Given the description of an element on the screen output the (x, y) to click on. 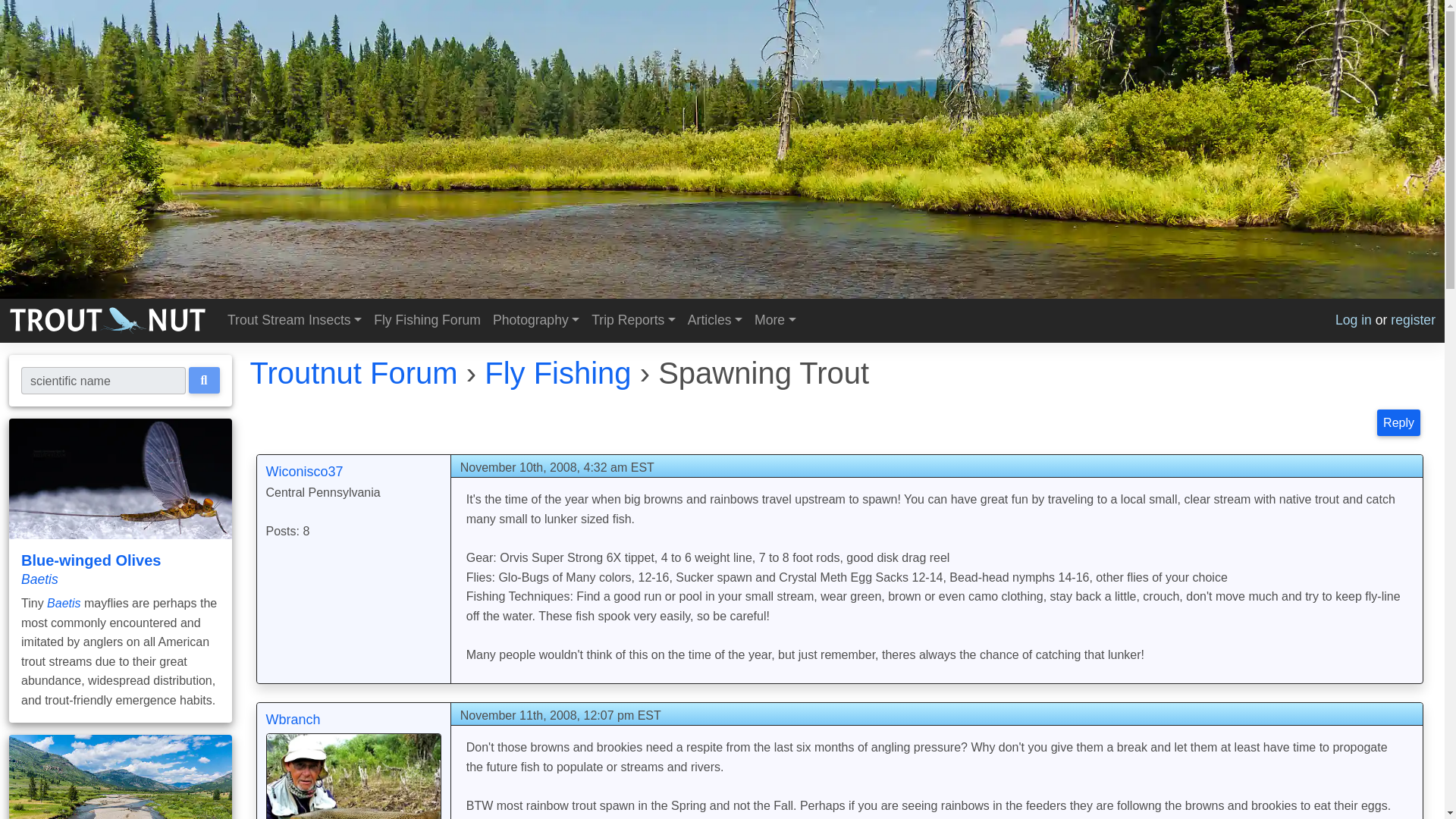
Wbranch's profile picture (352, 776)
Trout Stream Insects (294, 320)
Troutnut.com Home (107, 320)
Slough Creek in Wyoming (119, 776)
View Wbranch's Profile or Send Private Message (292, 719)
View Wiconisco37's Profile or Send Private Message (303, 471)
